Given the description of an element on the screen output the (x, y) to click on. 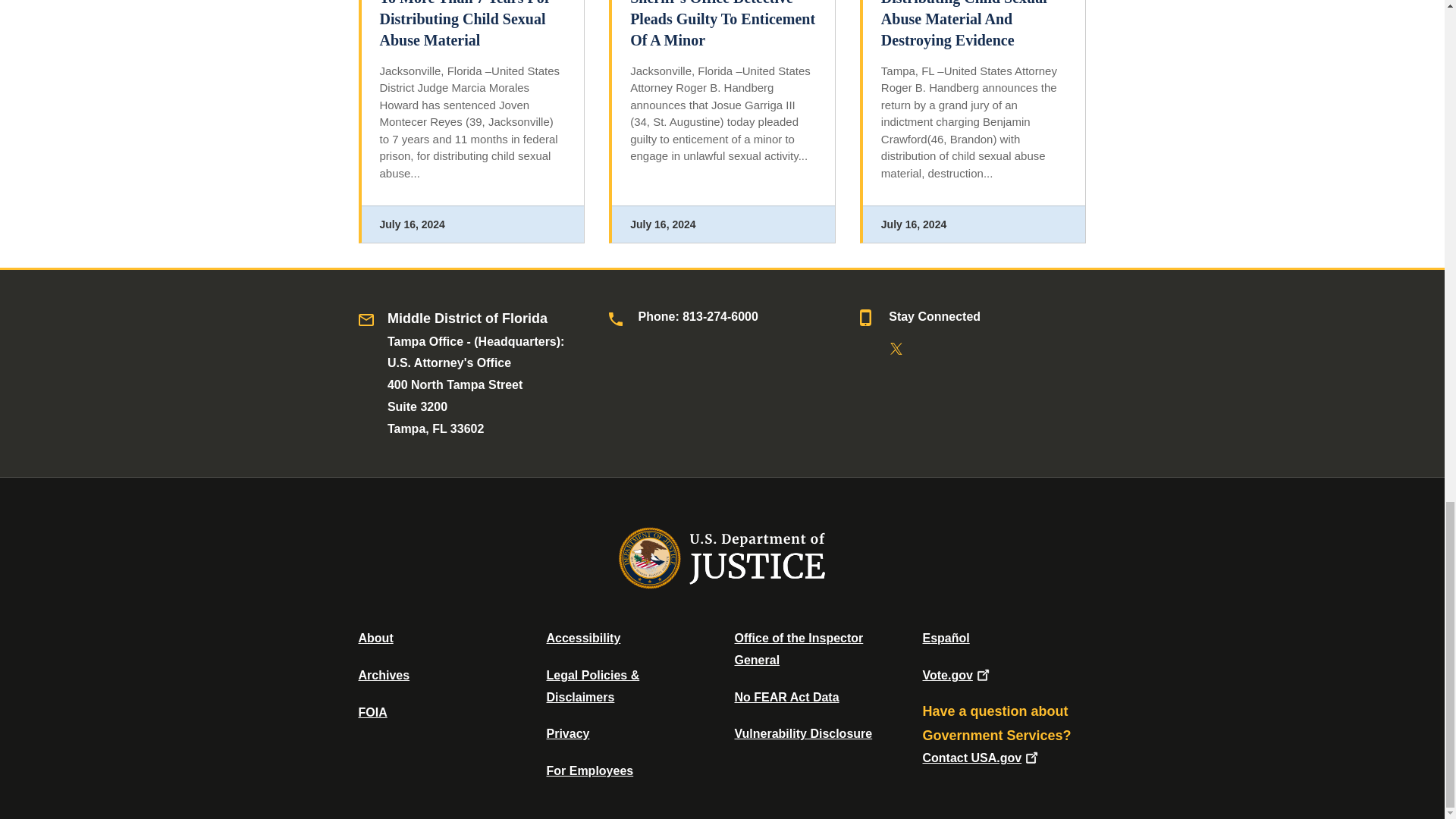
Office of Information Policy (372, 712)
Data Posted Pursuant To The No Fear Act (785, 697)
For Employees (589, 770)
Department of Justice Archive (383, 675)
Accessibility Statement (583, 637)
About DOJ (375, 637)
Legal Policies and Disclaimers (592, 686)
